Given the description of an element on the screen output the (x, y) to click on. 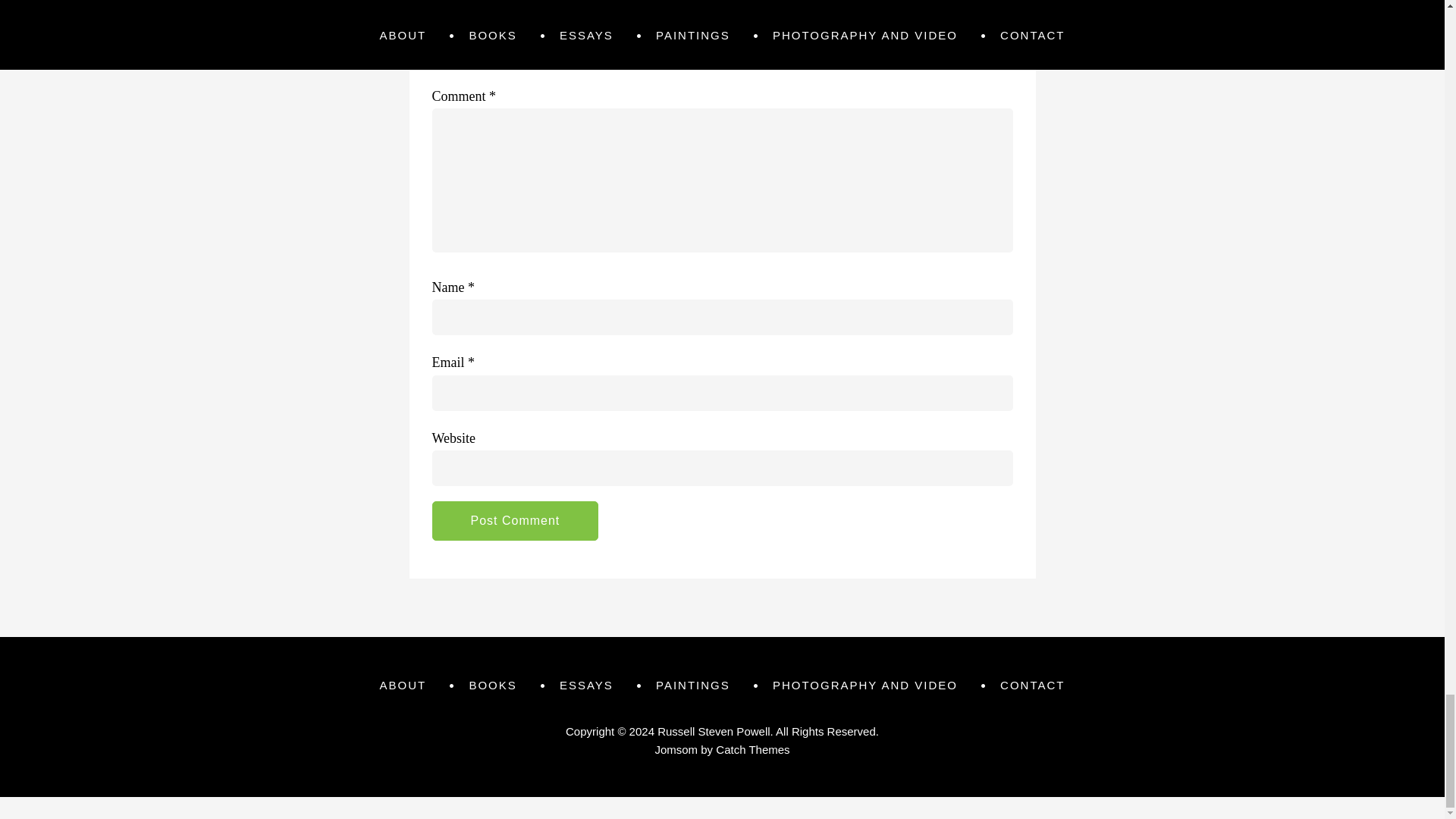
Post Comment (515, 520)
